Given the description of an element on the screen output the (x, y) to click on. 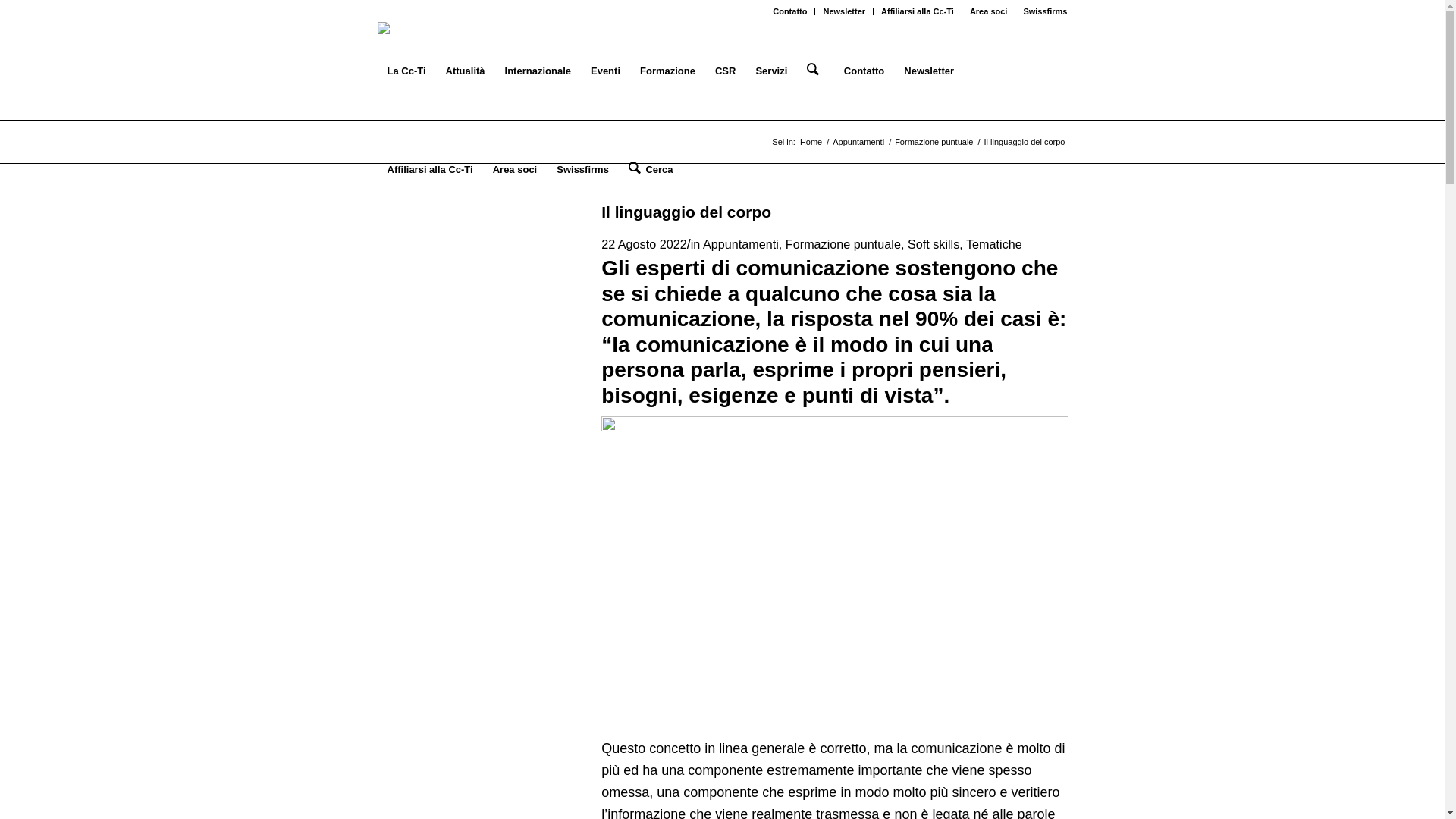
Appuntamenti Element type: text (740, 244)
Internazionale Element type: text (537, 70)
Soft skills Element type: text (933, 244)
Affiliarsi alla Cc-Ti Element type: text (917, 11)
Area soci Element type: text (988, 11)
Contatto Element type: text (789, 11)
Appuntamenti Element type: text (858, 141)
Newsletter Element type: text (928, 70)
Home Element type: text (810, 141)
Formazione puntuale Element type: text (842, 244)
LG-cc-ti-03 Element type: hover (399, 28)
Contatto Element type: text (864, 70)
Cerca Element type: text (650, 169)
Formazione Element type: text (667, 70)
Eventi Element type: text (605, 70)
LG-cc-ti-03 Element type: hover (399, 70)
Swissfirms Element type: text (1044, 11)
Area soci Element type: text (515, 169)
Affiliarsi alla Cc-Ti Element type: text (430, 169)
CSR Element type: text (725, 70)
La Cc-Ti Element type: text (406, 70)
Swissfirms Element type: text (582, 169)
Tematiche Element type: text (994, 244)
Formazione puntuale Element type: text (933, 141)
Newsletter Element type: text (843, 11)
Servizi Element type: text (771, 70)
